Given the description of an element on the screen output the (x, y) to click on. 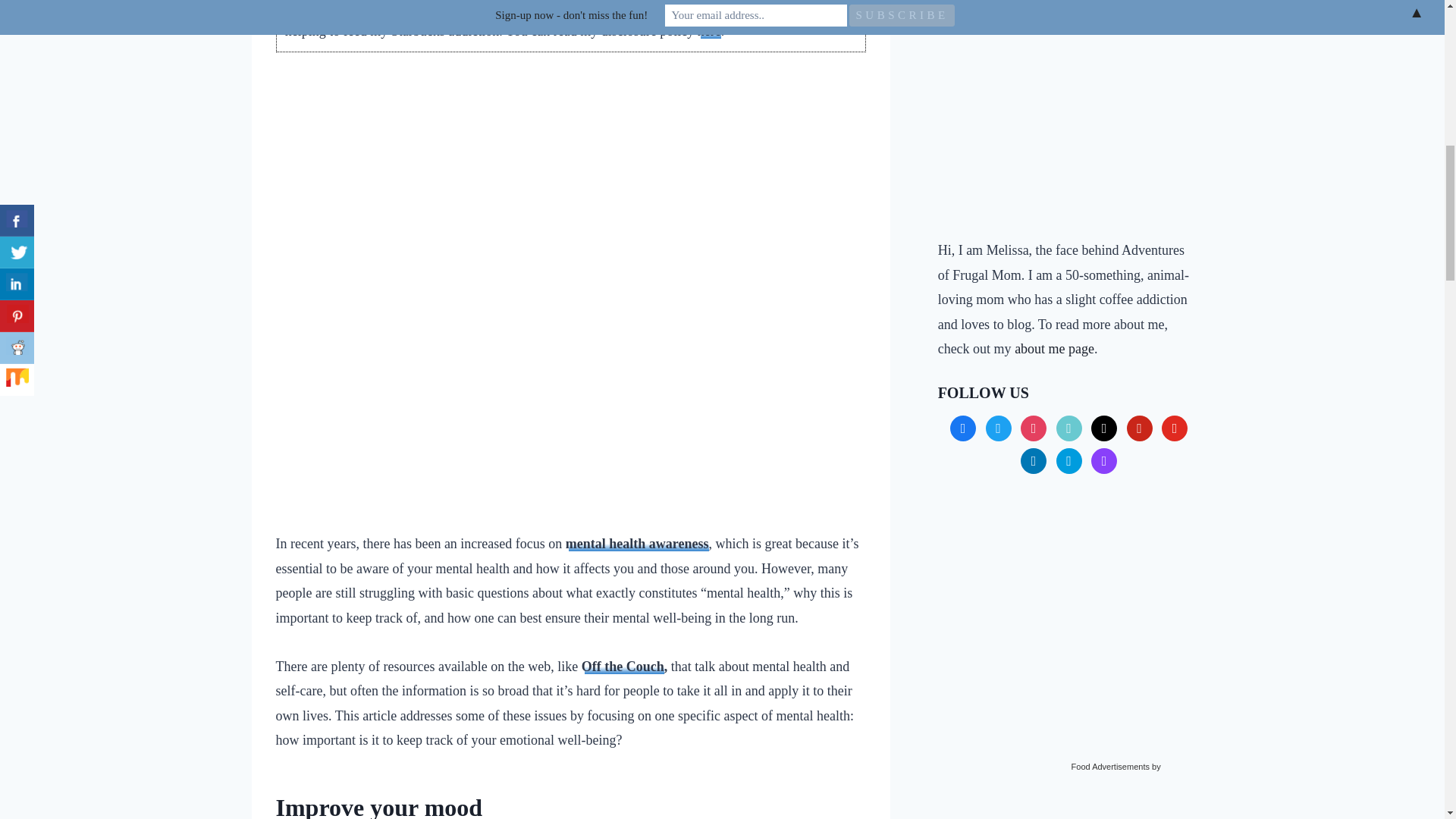
Facebook (962, 426)
